Given the description of an element on the screen output the (x, y) to click on. 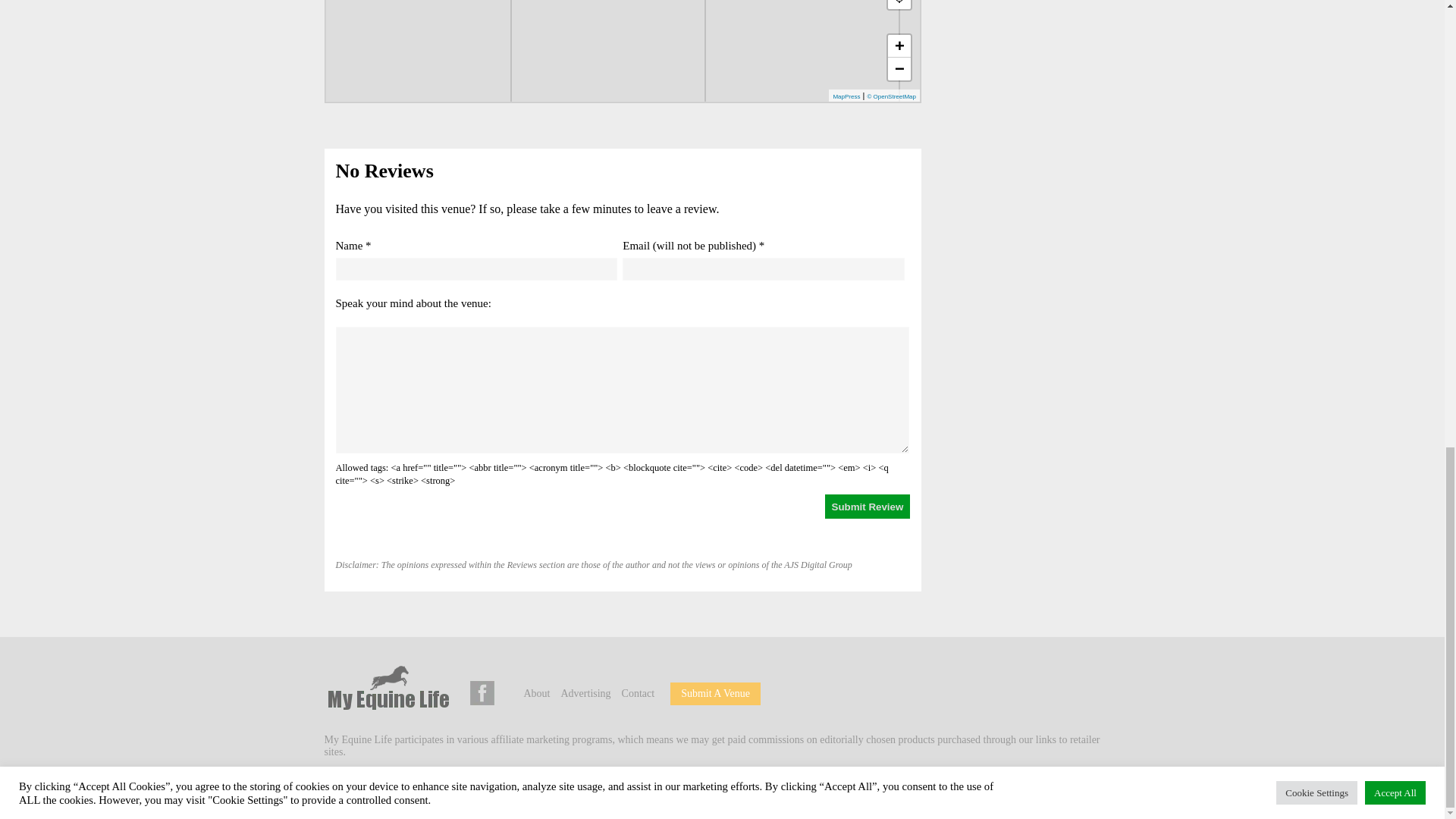
Submit Review (867, 506)
Submit A Venue (715, 693)
Advertising (585, 693)
About (536, 693)
Terms of Use (597, 787)
Submit Review (867, 506)
MapPress (846, 96)
Your Location (899, 5)
AJS Digital Group (430, 787)
Contact (638, 693)
